Given the description of an element on the screen output the (x, y) to click on. 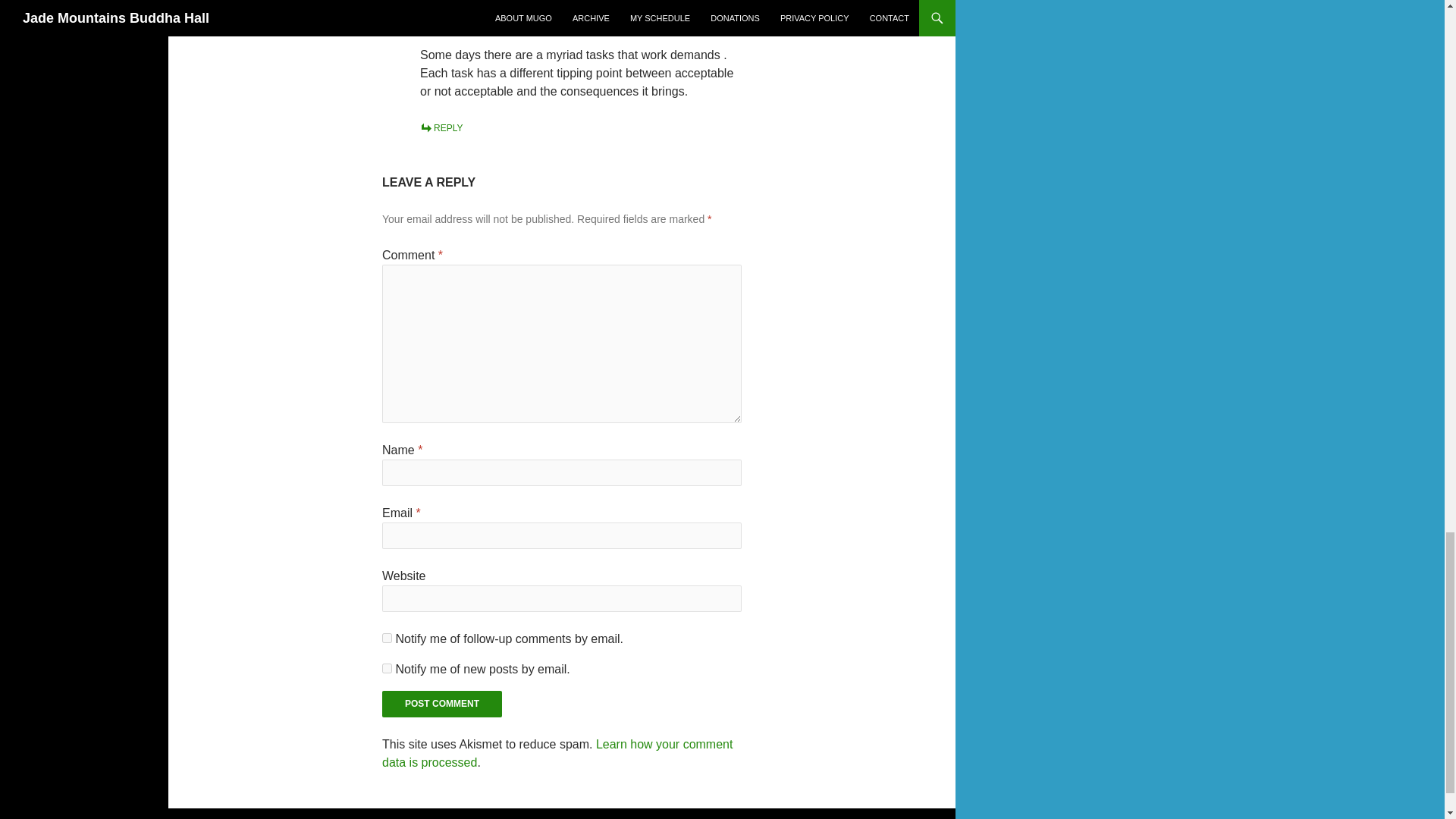
Post Comment (441, 704)
subscribe (386, 637)
subscribe (386, 668)
REPLY (441, 127)
Post Comment (441, 704)
Learn how your comment data is processed (556, 753)
